Given the description of an element on the screen output the (x, y) to click on. 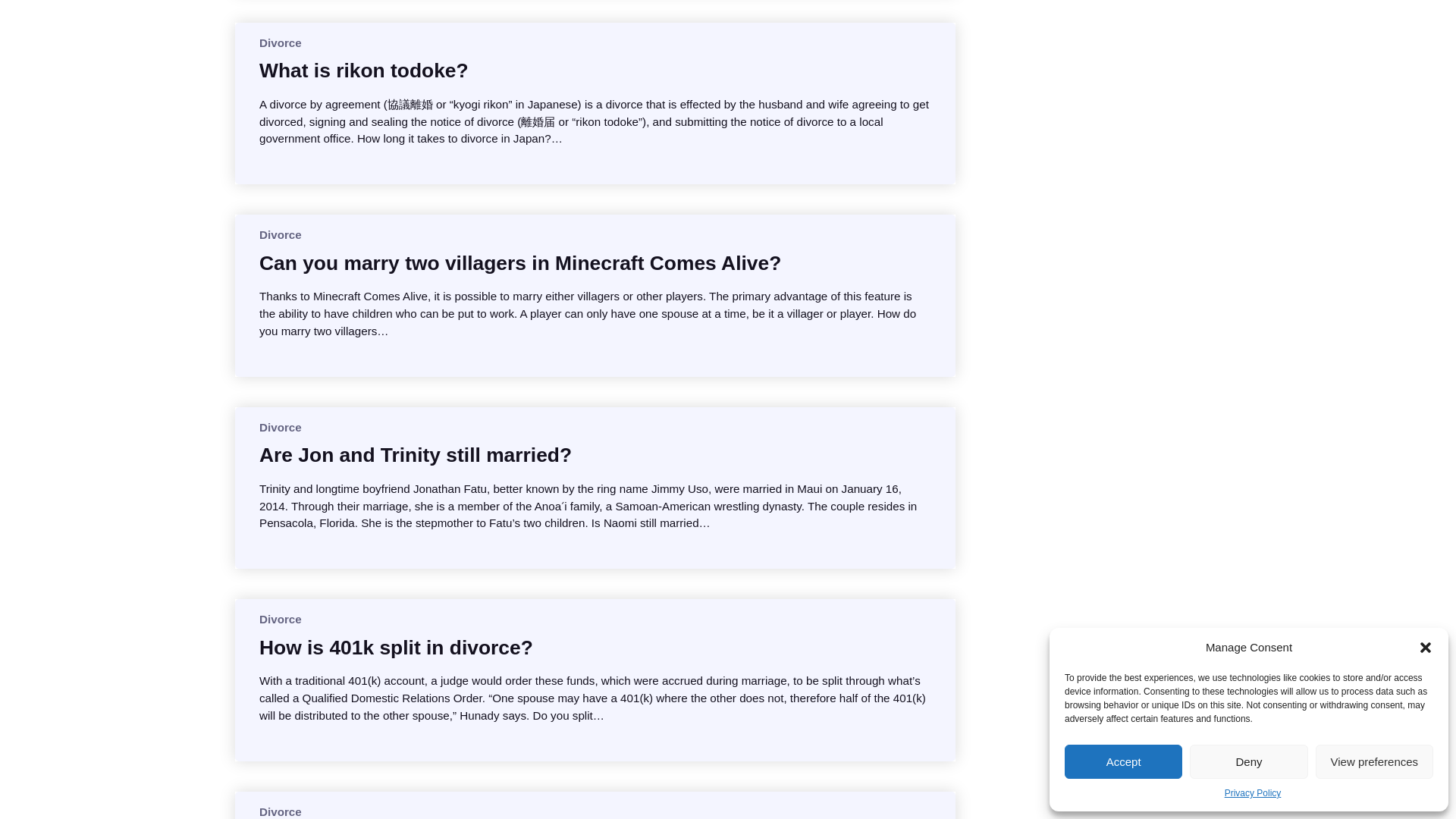
Divorce (280, 42)
Divorce (280, 234)
What is rikon todoke? (363, 70)
Can you marry two villagers in Minecraft Comes Alive? (519, 263)
